Given the description of an element on the screen output the (x, y) to click on. 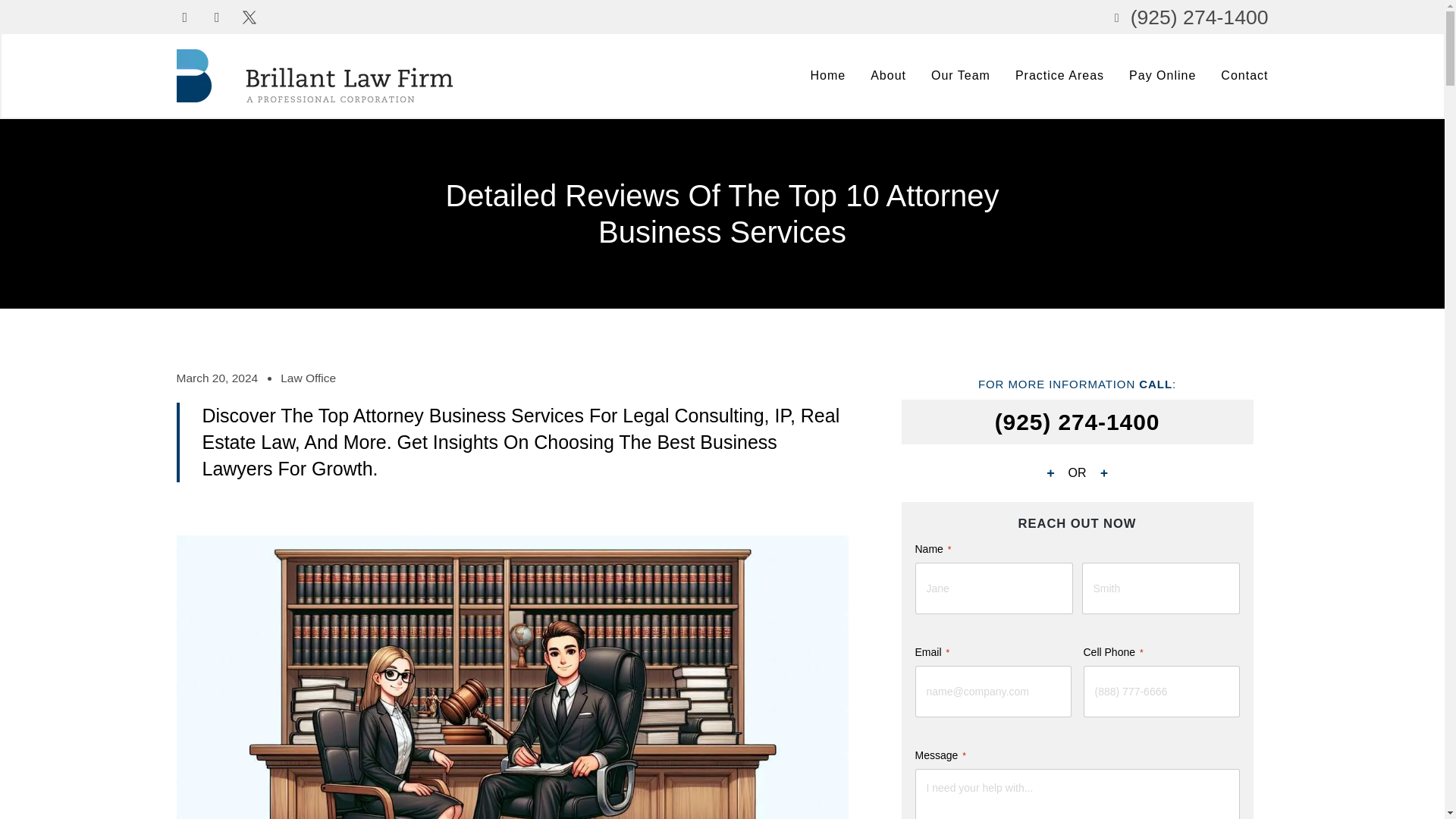
Call Us! (1077, 421)
Pay Online (1162, 75)
March 20, 2024 (216, 378)
Home (827, 75)
Law Office (308, 378)
About (887, 75)
Practice Areas (1058, 75)
Our Team (960, 75)
Contact (1244, 75)
